Given the description of an element on the screen output the (x, y) to click on. 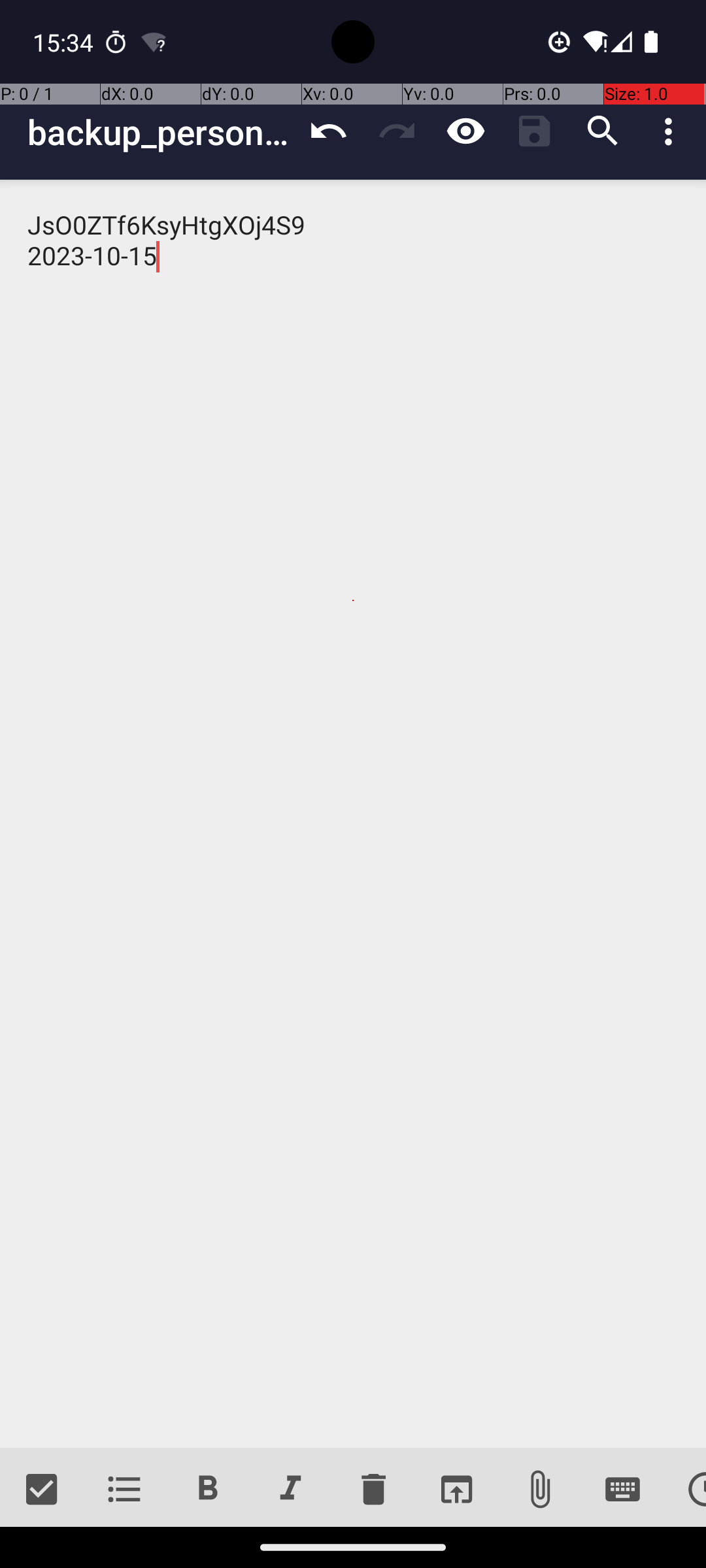
backup_personal_goals_2024 Element type: android.widget.TextView (160, 131)
JsO0ZTf6KsyHtgXOj4S9
2023-10-15 Element type: android.widget.EditText (353, 813)
